Given the description of an element on the screen output the (x, y) to click on. 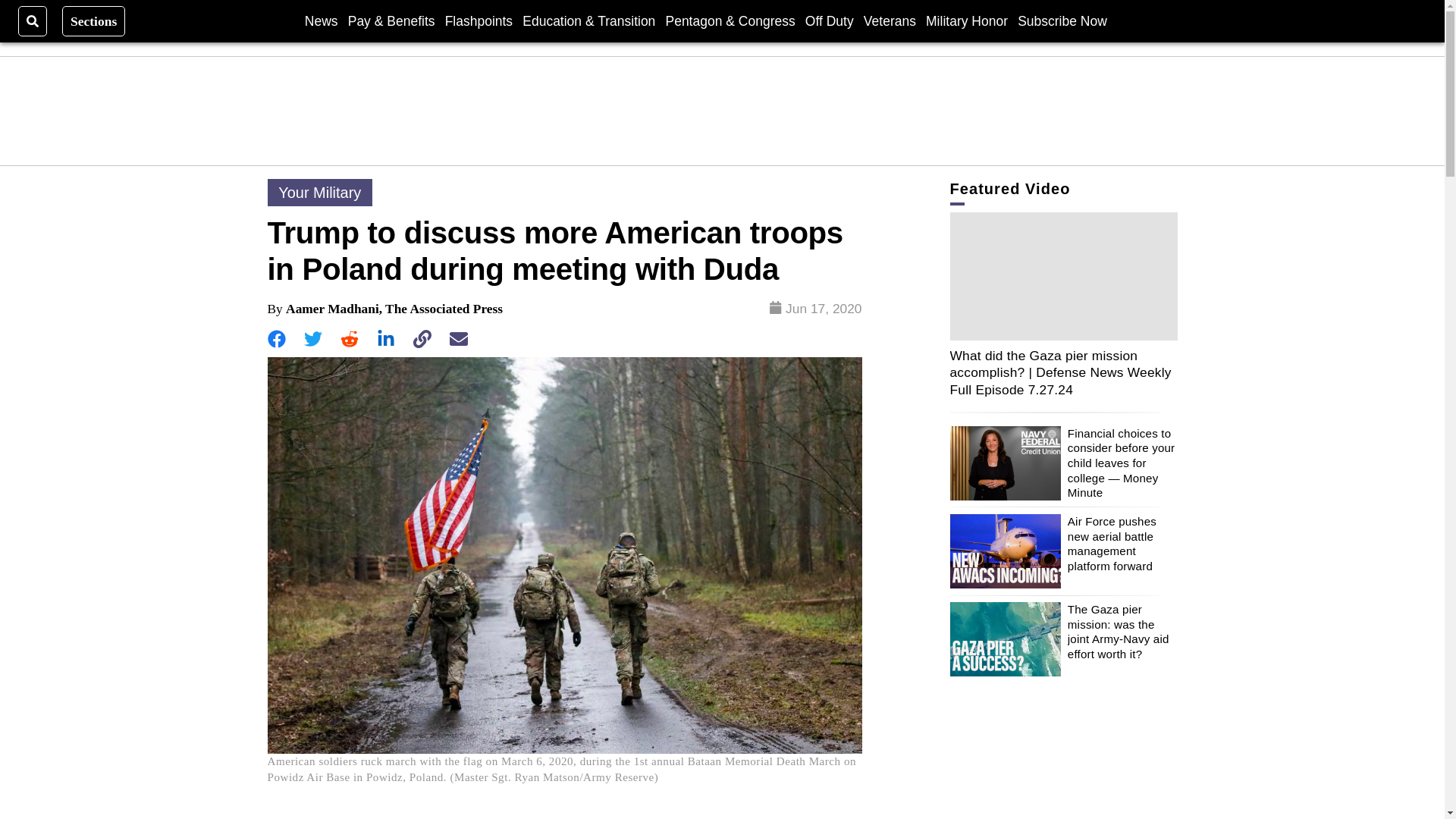
News (320, 20)
Flashpoints (479, 20)
Sections (93, 20)
Veterans (889, 20)
Off Duty (829, 20)
Military Honor (966, 20)
